Given the description of an element on the screen output the (x, y) to click on. 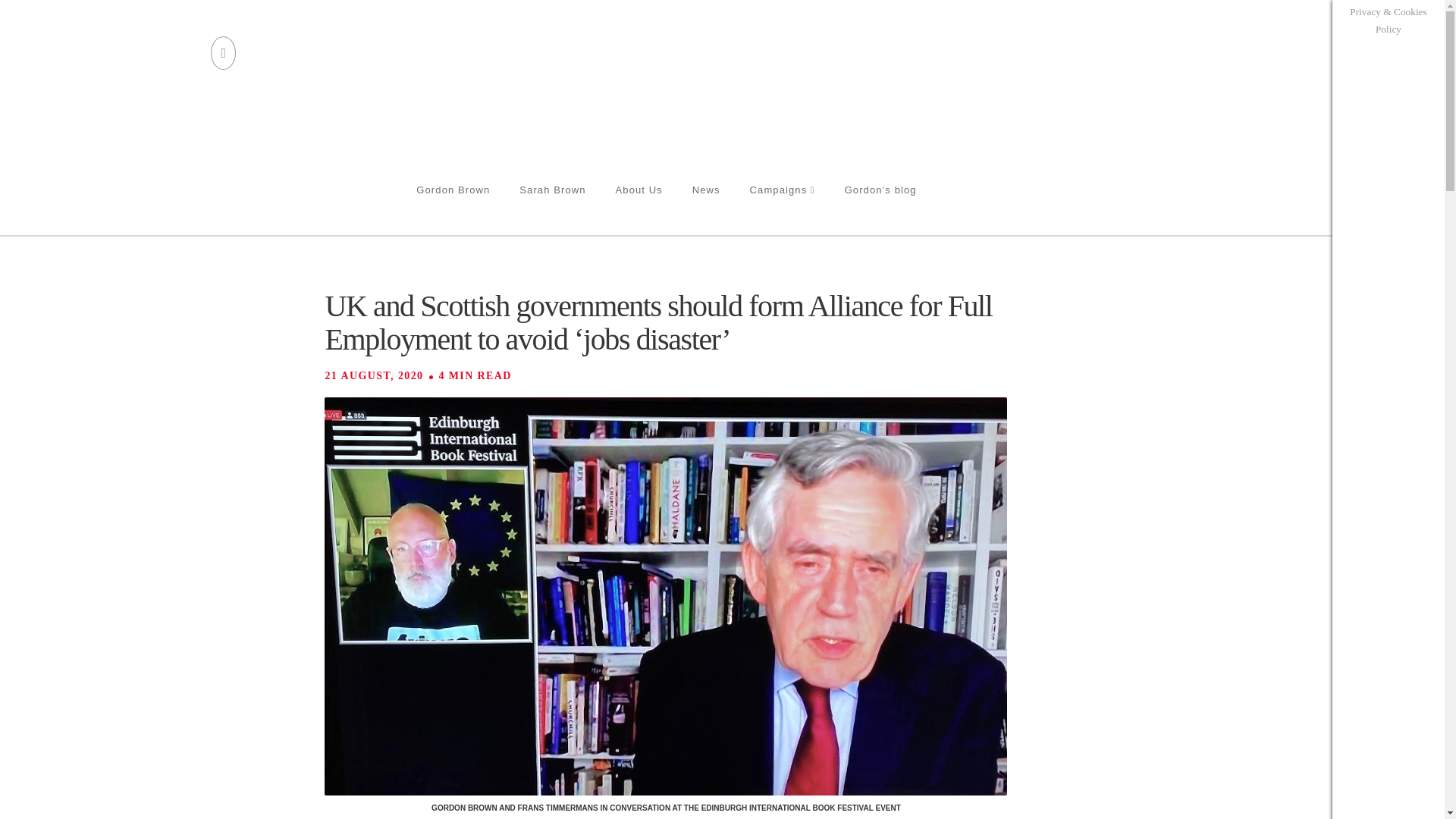
Sarah Brown (551, 208)
News (706, 208)
Campaigns (782, 208)
Gordon Brown (452, 208)
About Us (638, 208)
